Given the description of an element on the screen output the (x, y) to click on. 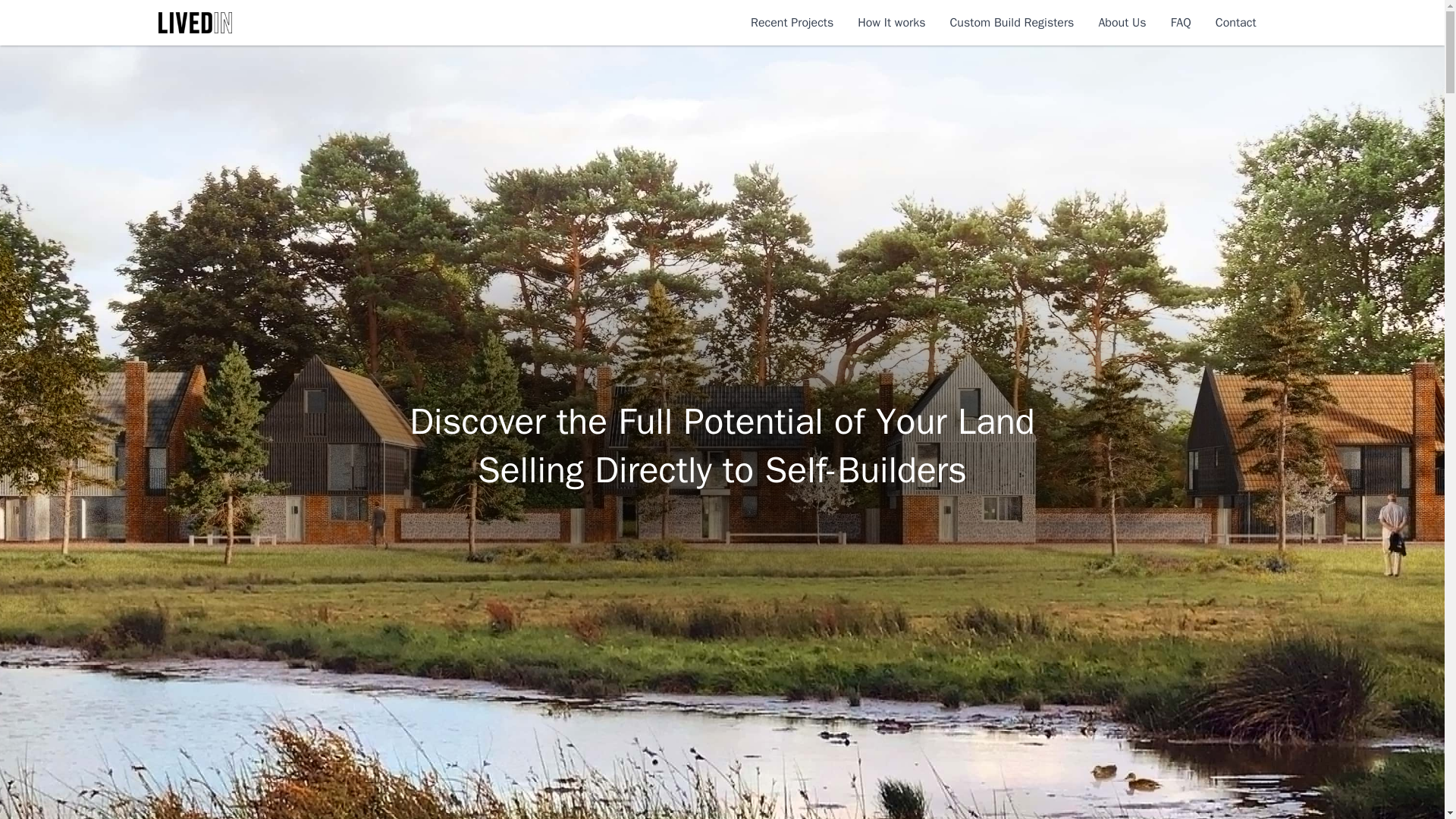
Contact (1235, 22)
How It works (890, 22)
About Us (1121, 22)
FAQ (1180, 22)
Recent Projects (791, 22)
Custom Build Registers (1011, 22)
